Given the description of an element on the screen output the (x, y) to click on. 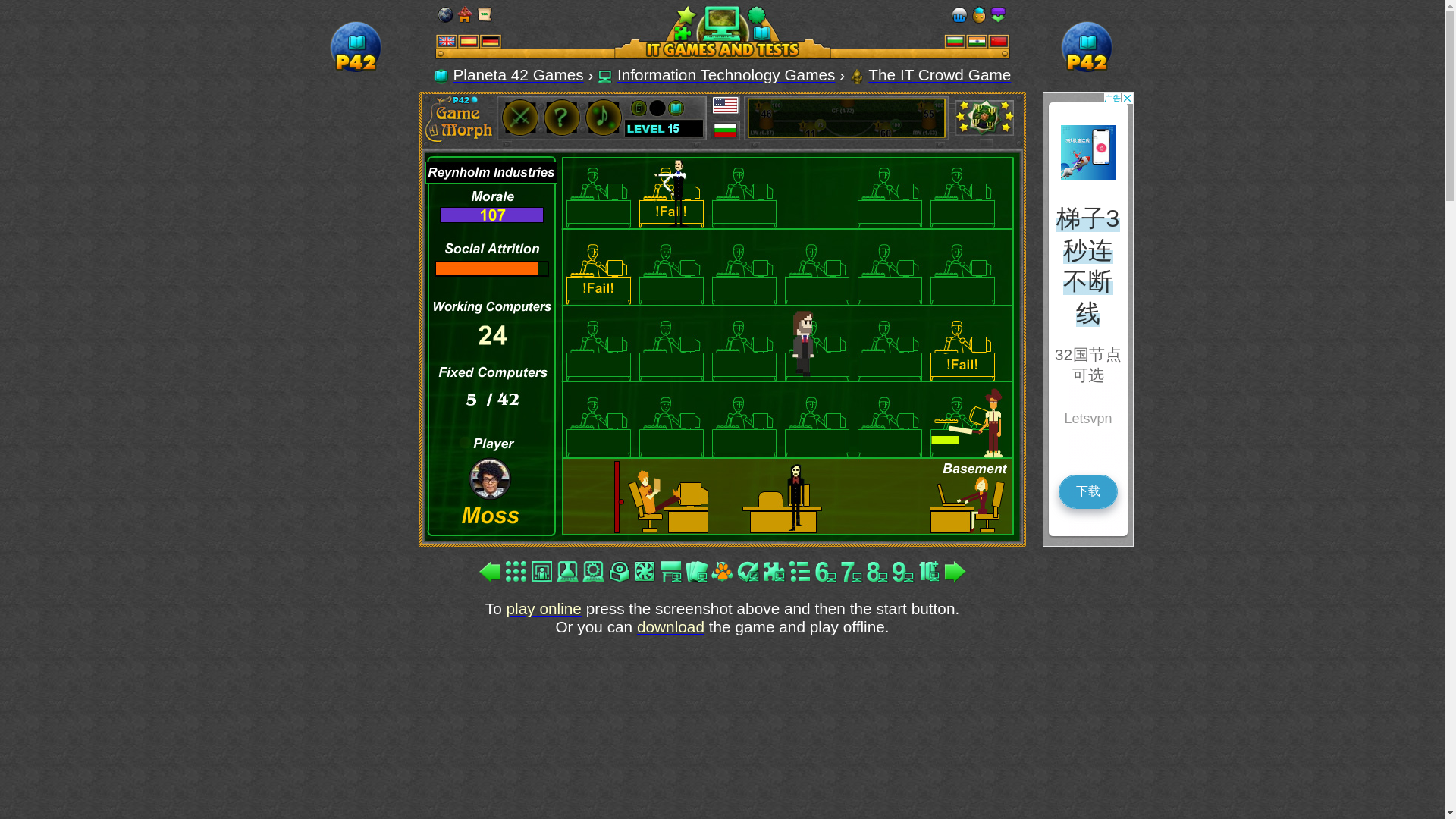
play online (543, 608)
P42 Games (356, 73)
Play Online Game (856, 75)
Online Learning Games (517, 74)
IT Learning Games (725, 74)
Interactive Computer Tools (722, 31)
Planeta 42 Games (356, 48)
The IT Crowd Game (938, 74)
Free Online Games (440, 75)
Information Technology Games (725, 74)
download (670, 626)
Planeta 42 Games (517, 74)
Fun Information Technology Games (604, 75)
